Given the description of an element on the screen output the (x, y) to click on. 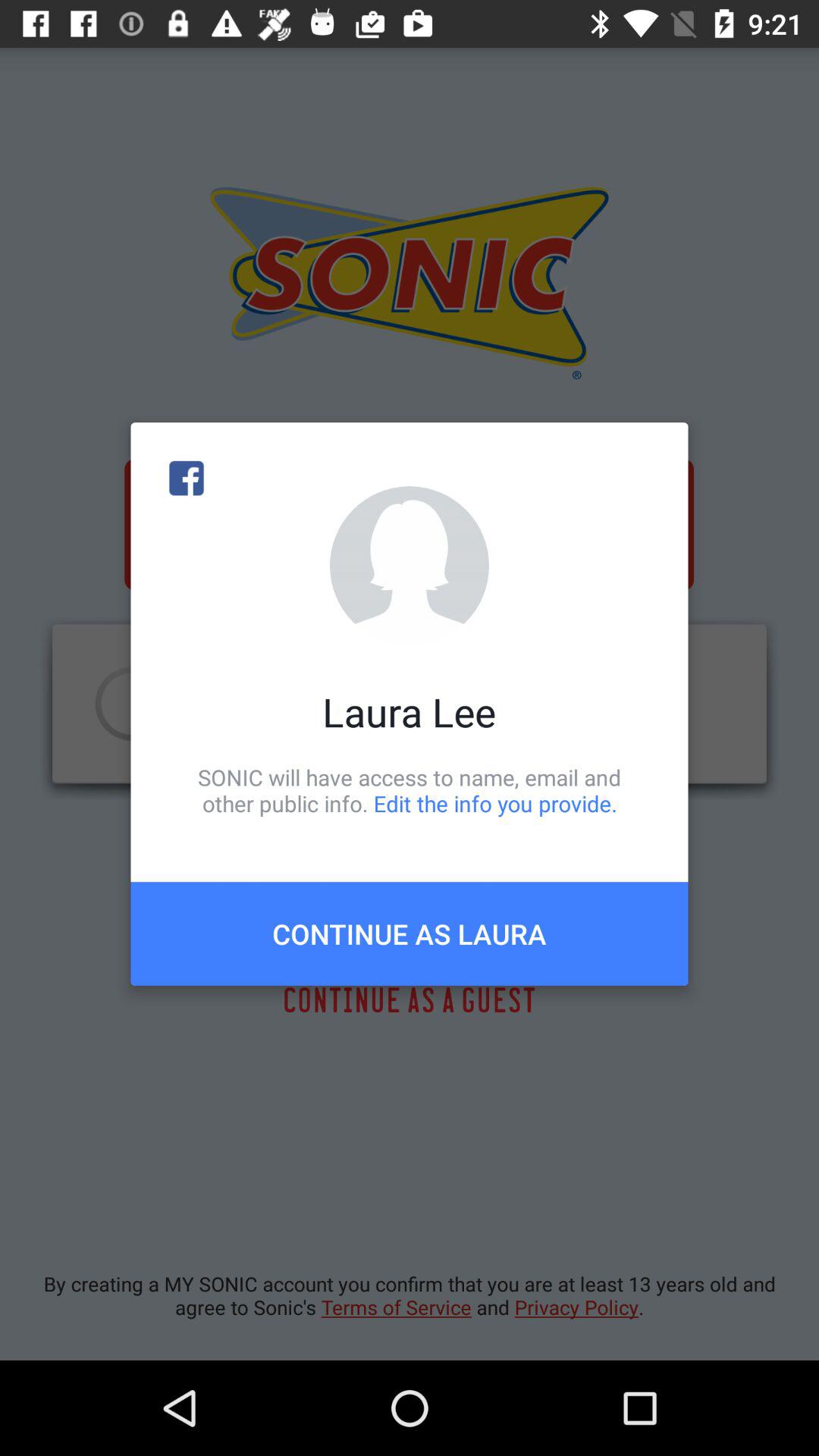
turn on sonic will have item (409, 790)
